Given the description of an element on the screen output the (x, y) to click on. 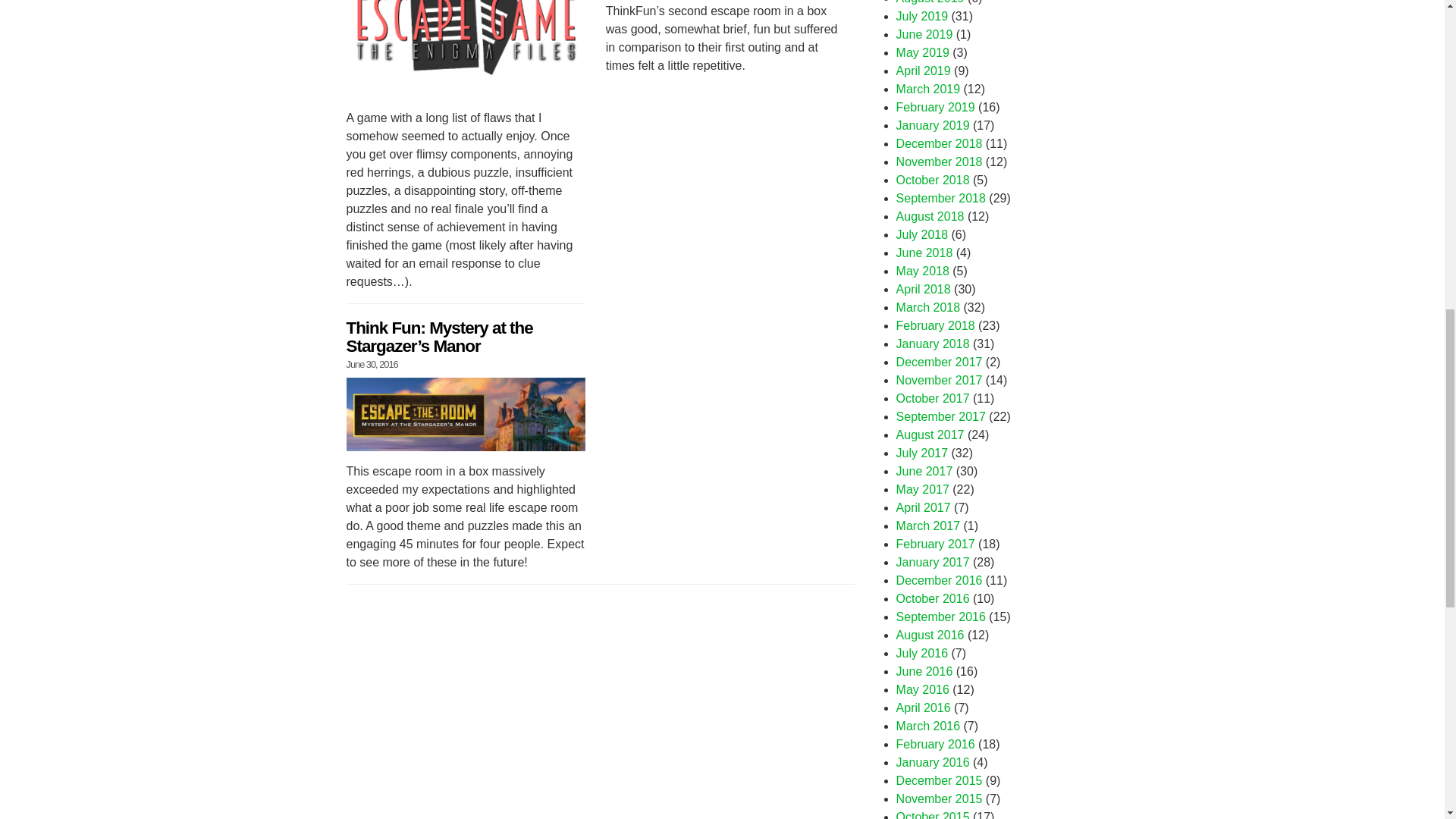
Thursday, Jun 30, 2016, 8:40 pm (371, 364)
